Given the description of an element on the screen output the (x, y) to click on. 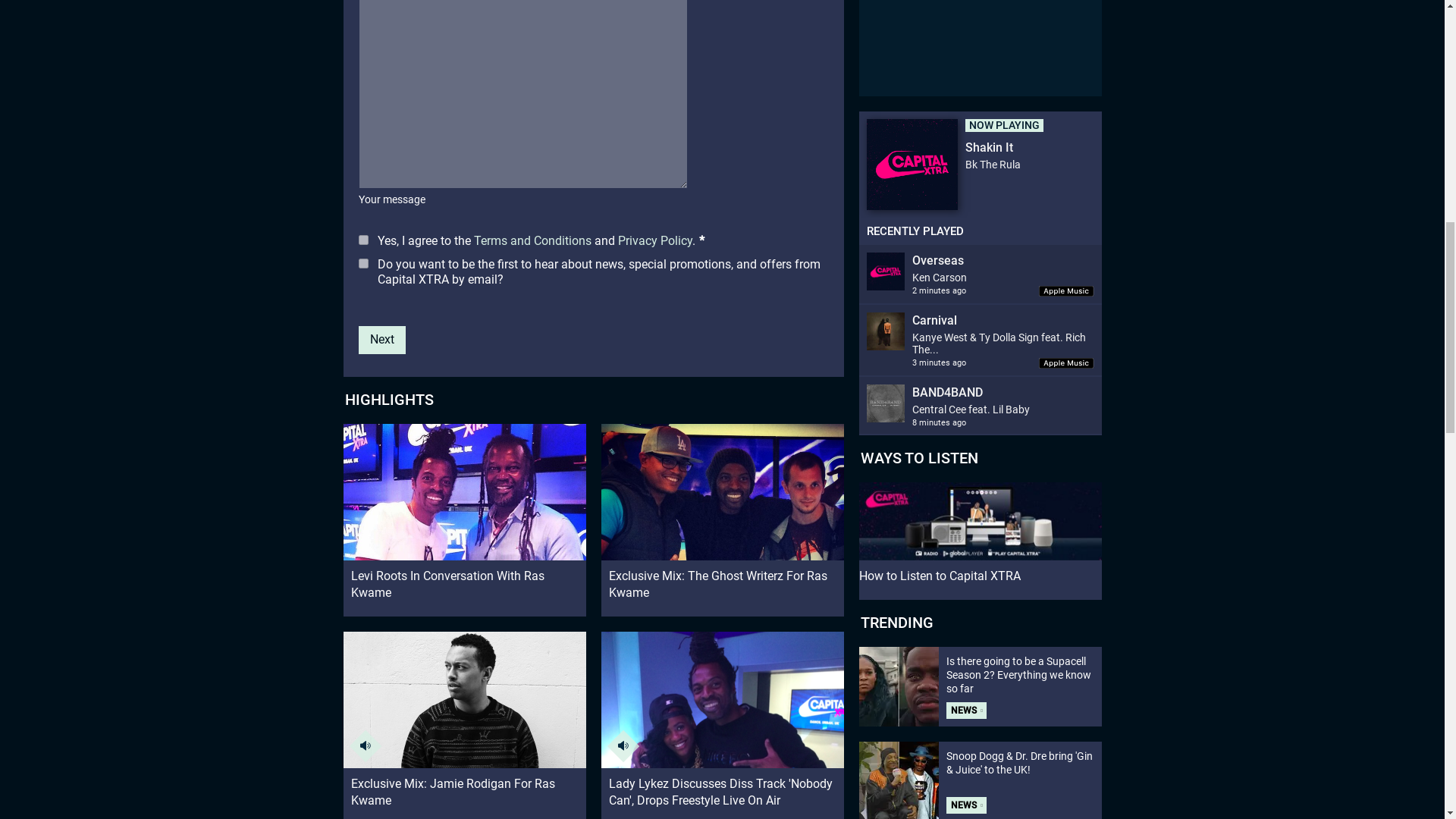
on (363, 239)
on (363, 263)
Privacy Policy (654, 240)
Exclusive Mix: Jamie Rodigan For Ras Kwame (463, 720)
Exclusive Mix: The Ghost Writerz For Ras Kwame (721, 512)
Levi Roots In Conversation With Ras Kwame (463, 512)
Next (381, 339)
Terms and Conditions (532, 240)
